Given the description of an element on the screen output the (x, y) to click on. 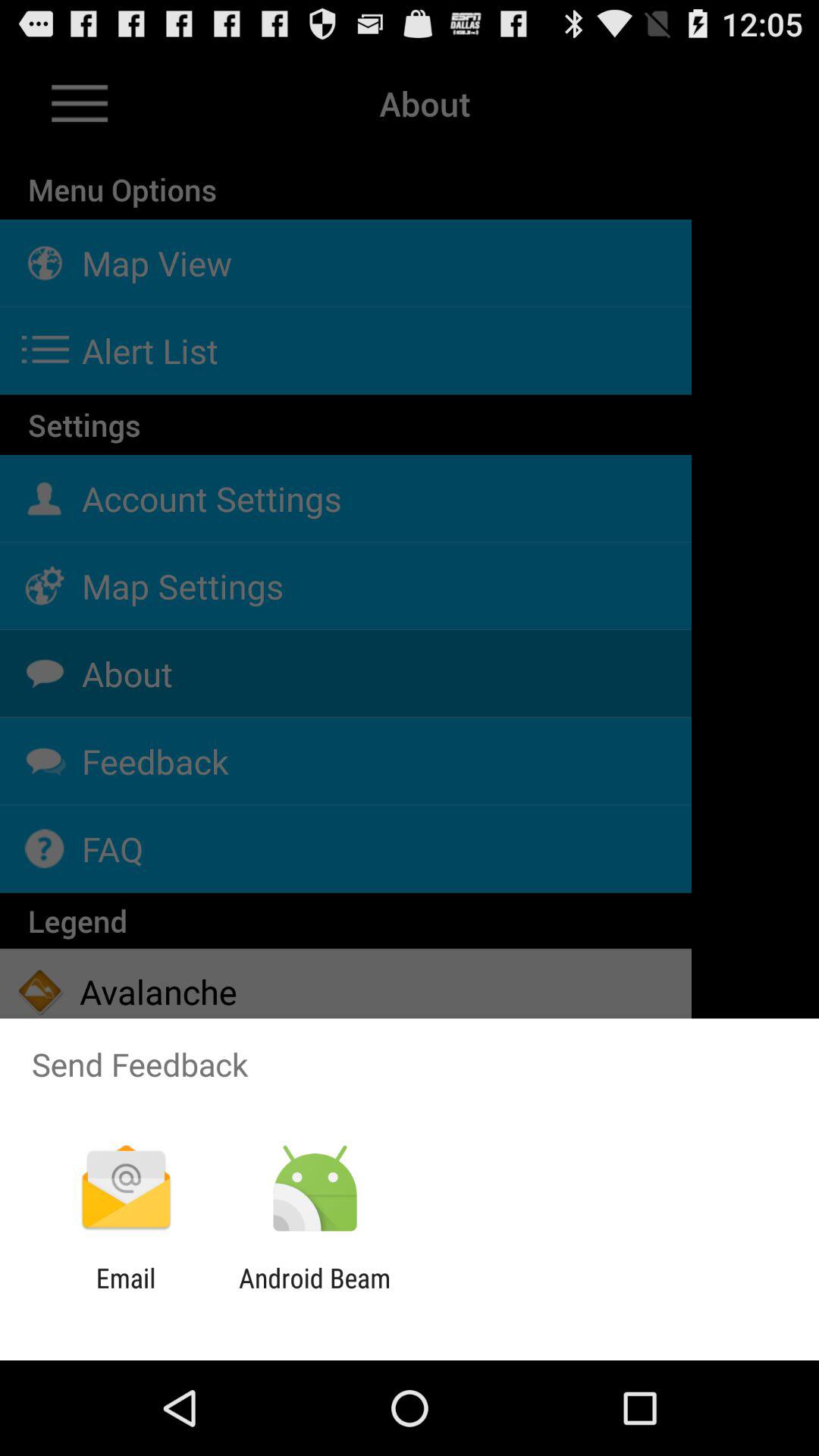
tap icon to the left of the android beam app (125, 1293)
